Given the description of an element on the screen output the (x, y) to click on. 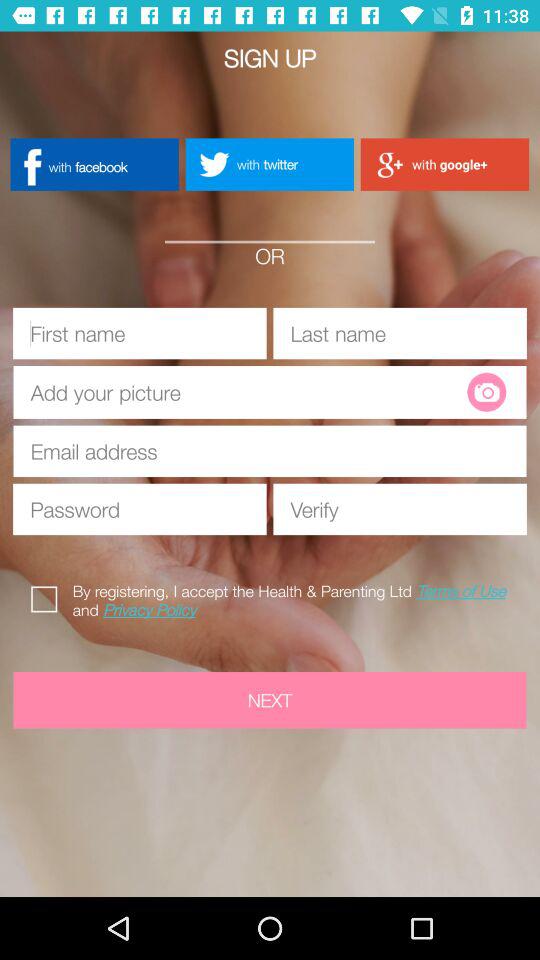
select button next to with twitter (444, 164)
